Given the description of an element on the screen output the (x, y) to click on. 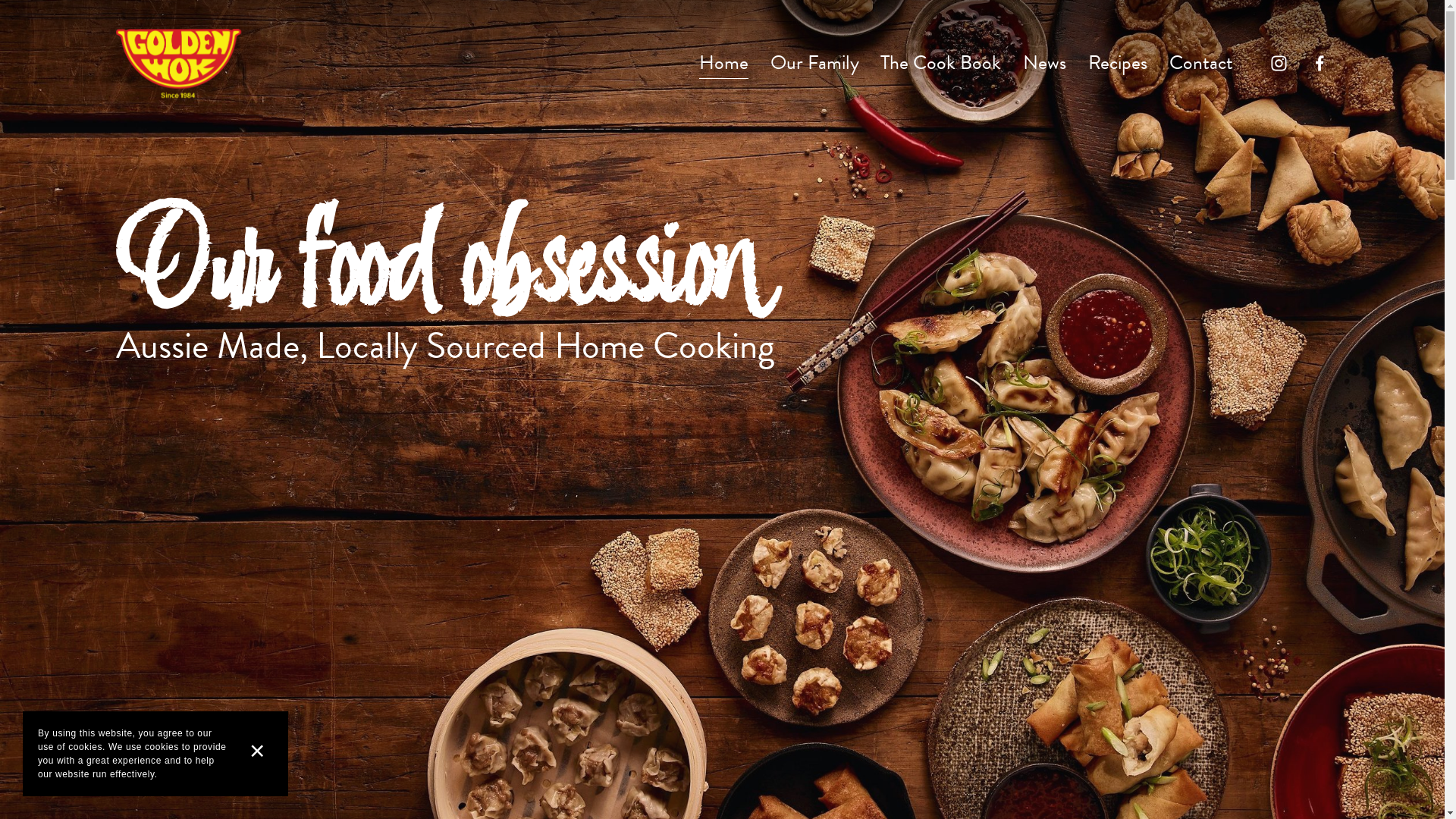
Home Element type: text (723, 63)
Our Family Element type: text (814, 63)
The Cook Book Element type: text (940, 63)
News Element type: text (1044, 63)
Contact Element type: text (1201, 63)
Recipes Element type: text (1117, 63)
